Given the description of an element on the screen output the (x, y) to click on. 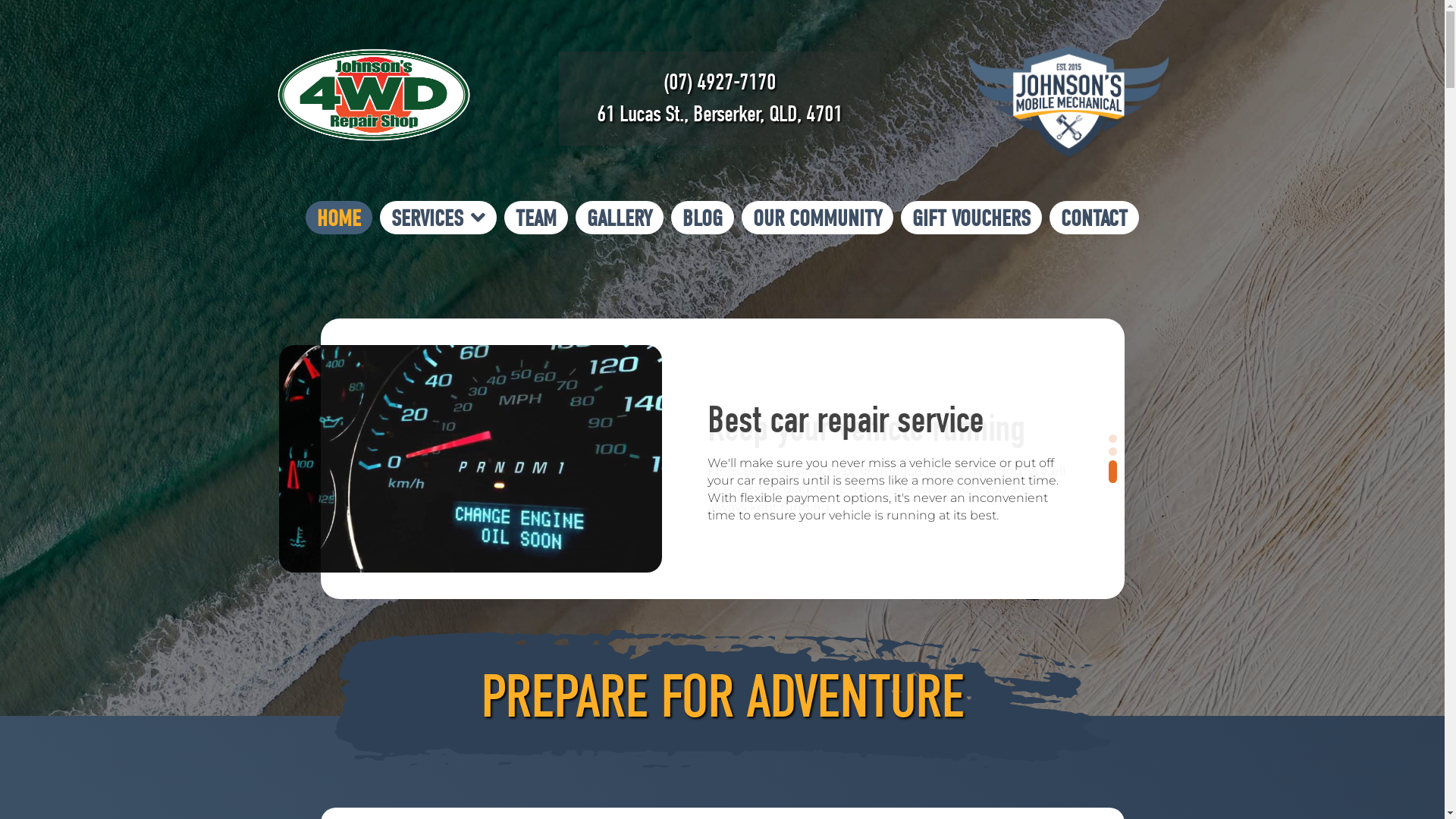
HOME Element type: text (338, 217)
CONTACT Element type: text (1094, 217)
SERVICES Element type: text (437, 217)
GIFT VOUCHERS Element type: text (970, 217)
Keep your vehicle running Element type: text (864, 428)
Johnsons-4WD-Repair-Shop-Rockhampton Element type: hover (372, 94)
OUR COMMUNITY Element type: text (817, 217)
TEAM Element type: text (535, 217)
Johnsons-Mechanic-Rockhampton Element type: hover (721, 698)
GALLERY Element type: text (619, 217)
BLOG Element type: text (702, 217)
Johnsons-Mobile-Mechanical-Rockhampton Element type: hover (1071, 102)
